Given the description of an element on the screen output the (x, y) to click on. 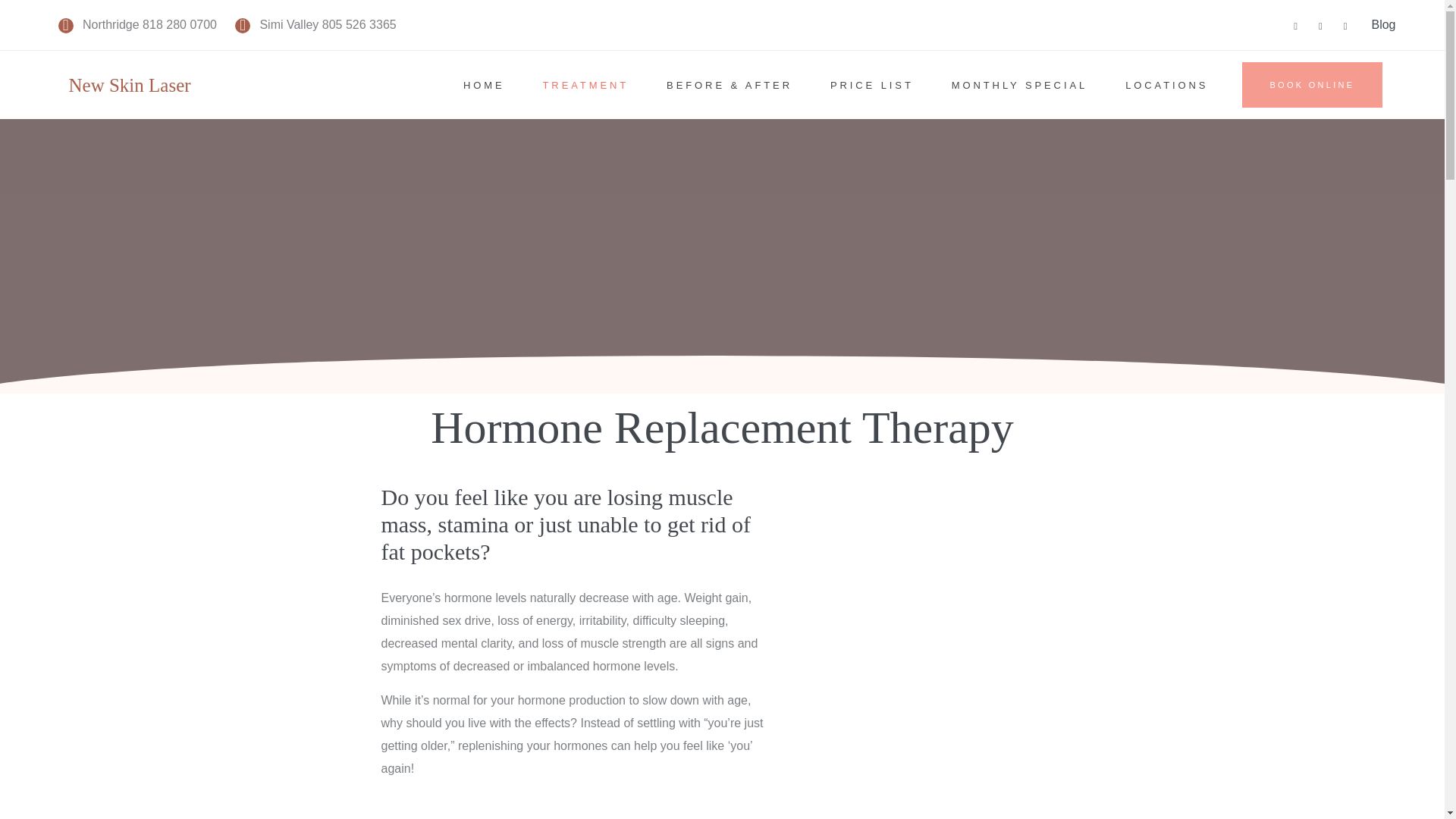
Blog (1382, 24)
HOME (484, 84)
818 280 0700 (179, 24)
805 526 3365 (358, 24)
TREATMENT (585, 84)
